Given the description of an element on the screen output the (x, y) to click on. 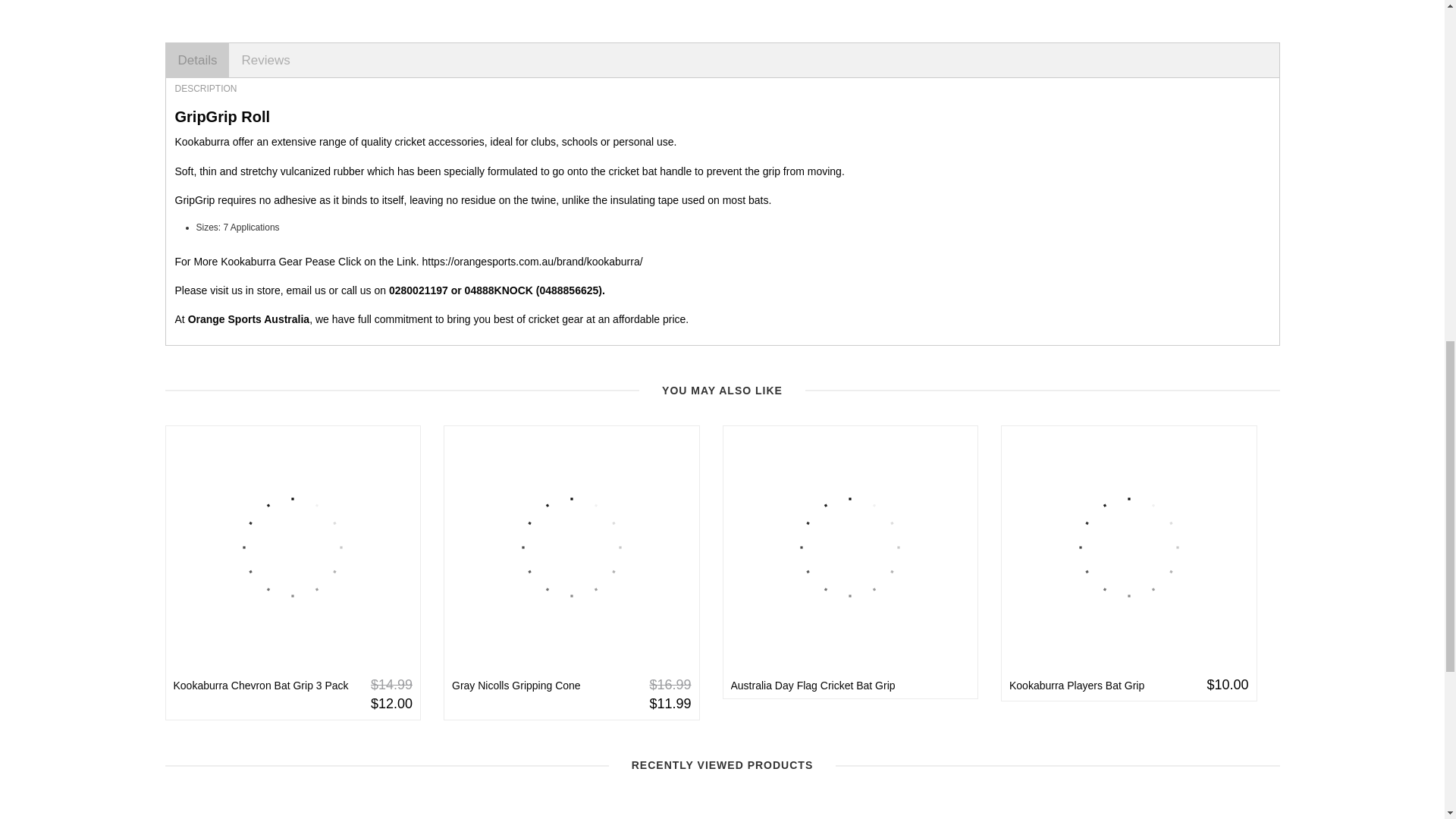
Pin on Pinterest (787, 10)
Tweet on Twitter (765, 10)
Share on Facebook (742, 10)
